Given the description of an element on the screen output the (x, y) to click on. 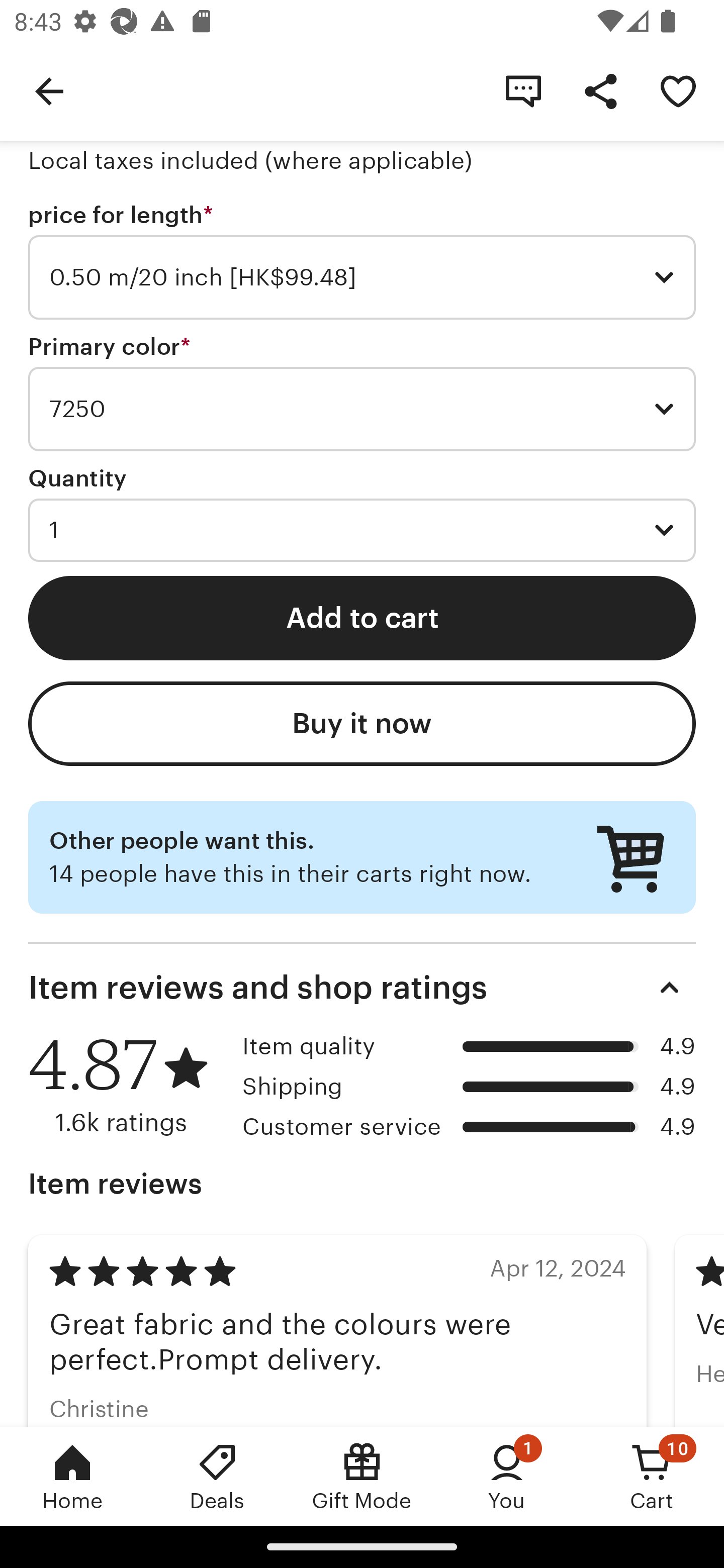
Navigate up (49, 90)
Contact shop (523, 90)
Share (600, 90)
0.50 m/20 inch [HK$99.48] (361, 277)
Primary color * Required 7250 (361, 392)
7250 (361, 408)
Quantity (77, 477)
1 (361, 529)
Add to cart (361, 617)
Buy it now (361, 723)
Item reviews and shop ratings (362, 987)
4.87 1.6k ratings (128, 1084)
Deals (216, 1475)
Gift Mode (361, 1475)
You, 1 new notification You (506, 1475)
Cart, 10 new notifications Cart (651, 1475)
